Given the description of an element on the screen output the (x, y) to click on. 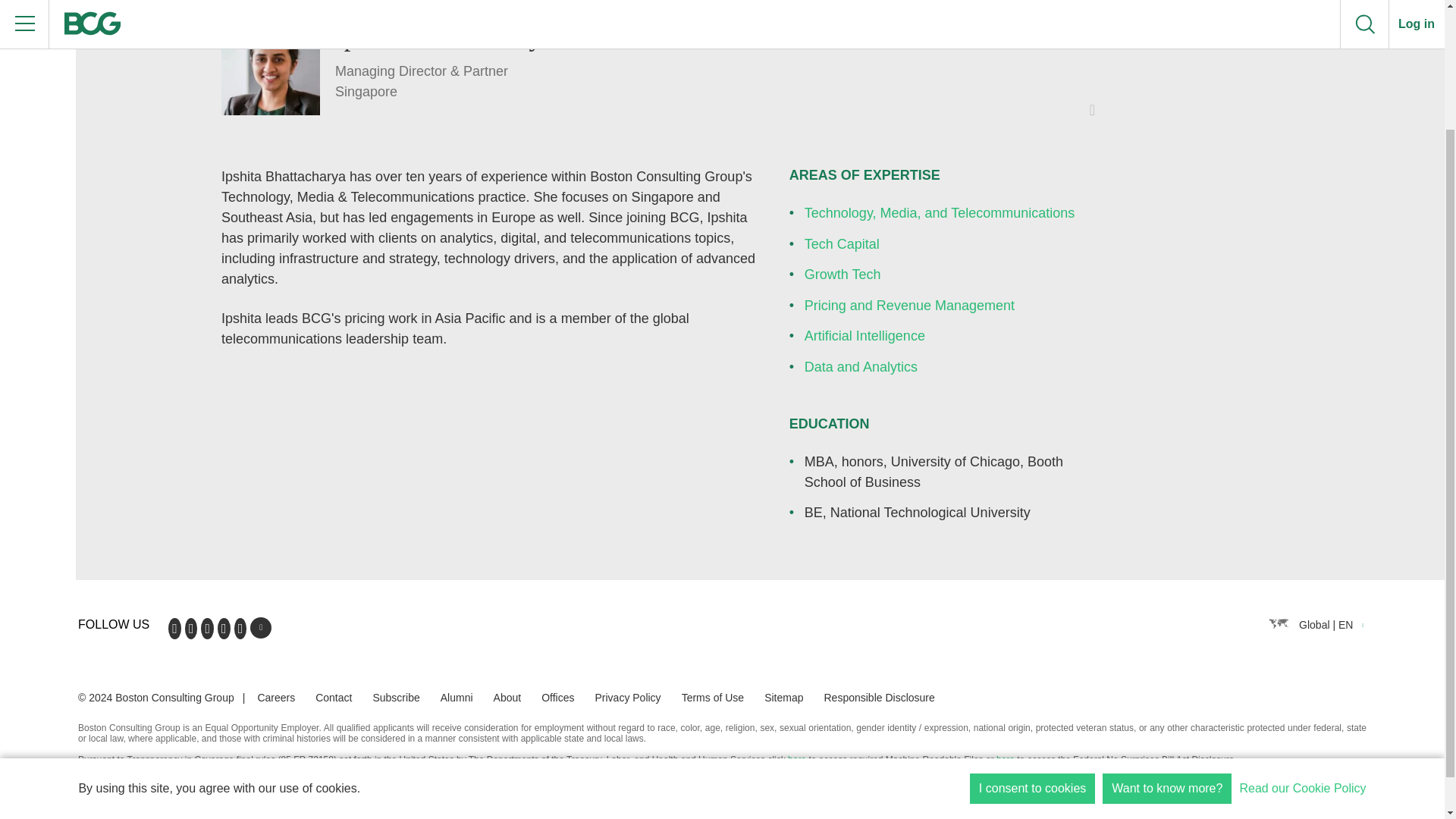
Artificial Intelligence (864, 335)
Subscribe (395, 697)
Data and Analytics (861, 366)
Growth Tech (842, 273)
Terms of Use (712, 697)
Careers (276, 697)
Contact (333, 697)
Pricing and Revenue Management (909, 304)
here (1004, 759)
Sitemap (783, 697)
Singapore (444, 91)
Technology, Media, and Telecommunications (940, 212)
here (796, 759)
About (507, 697)
Alumni (457, 697)
